Given the description of an element on the screen output the (x, y) to click on. 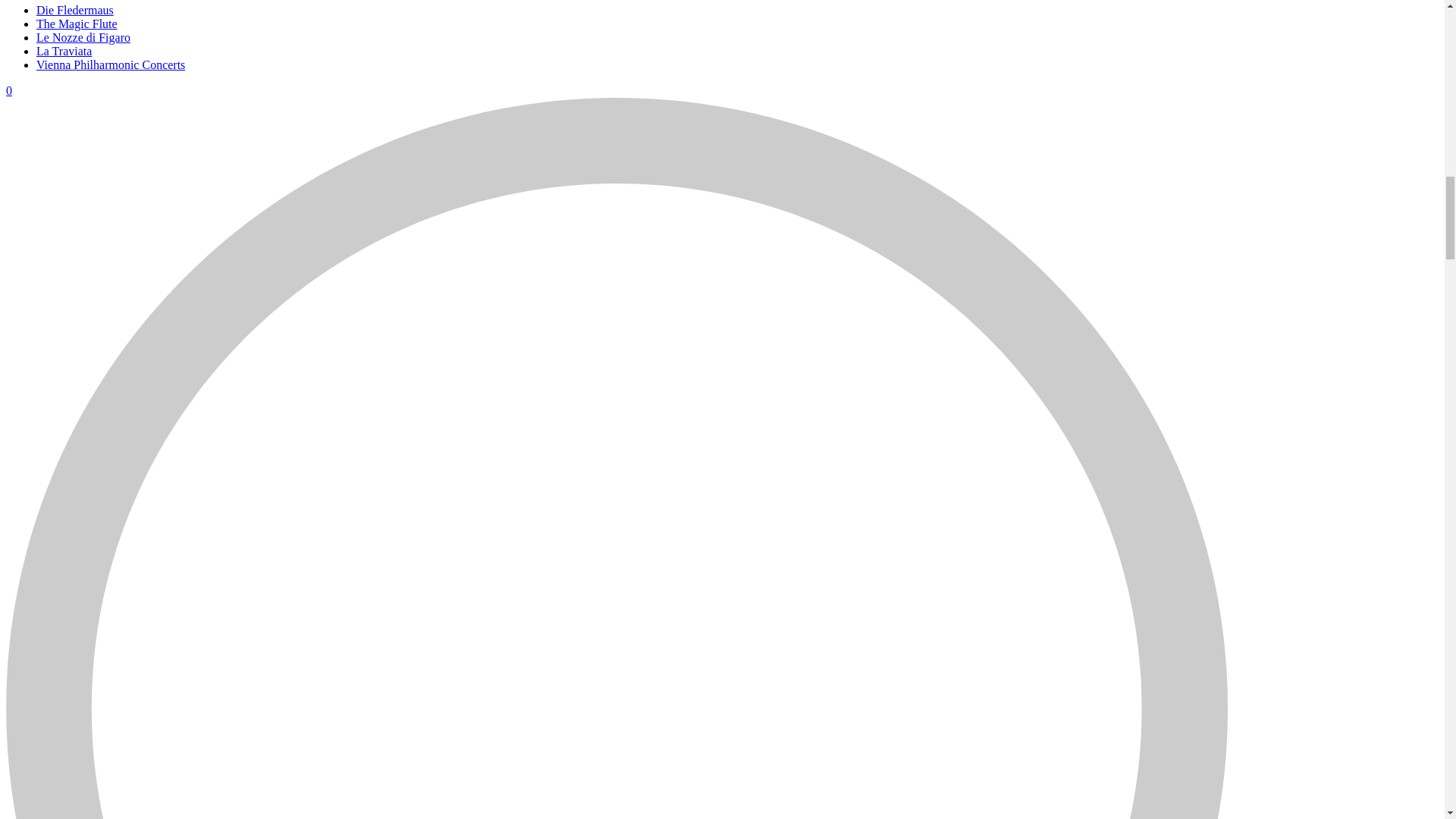
Die Fledermaus (74, 10)
